Given the description of an element on the screen output the (x, y) to click on. 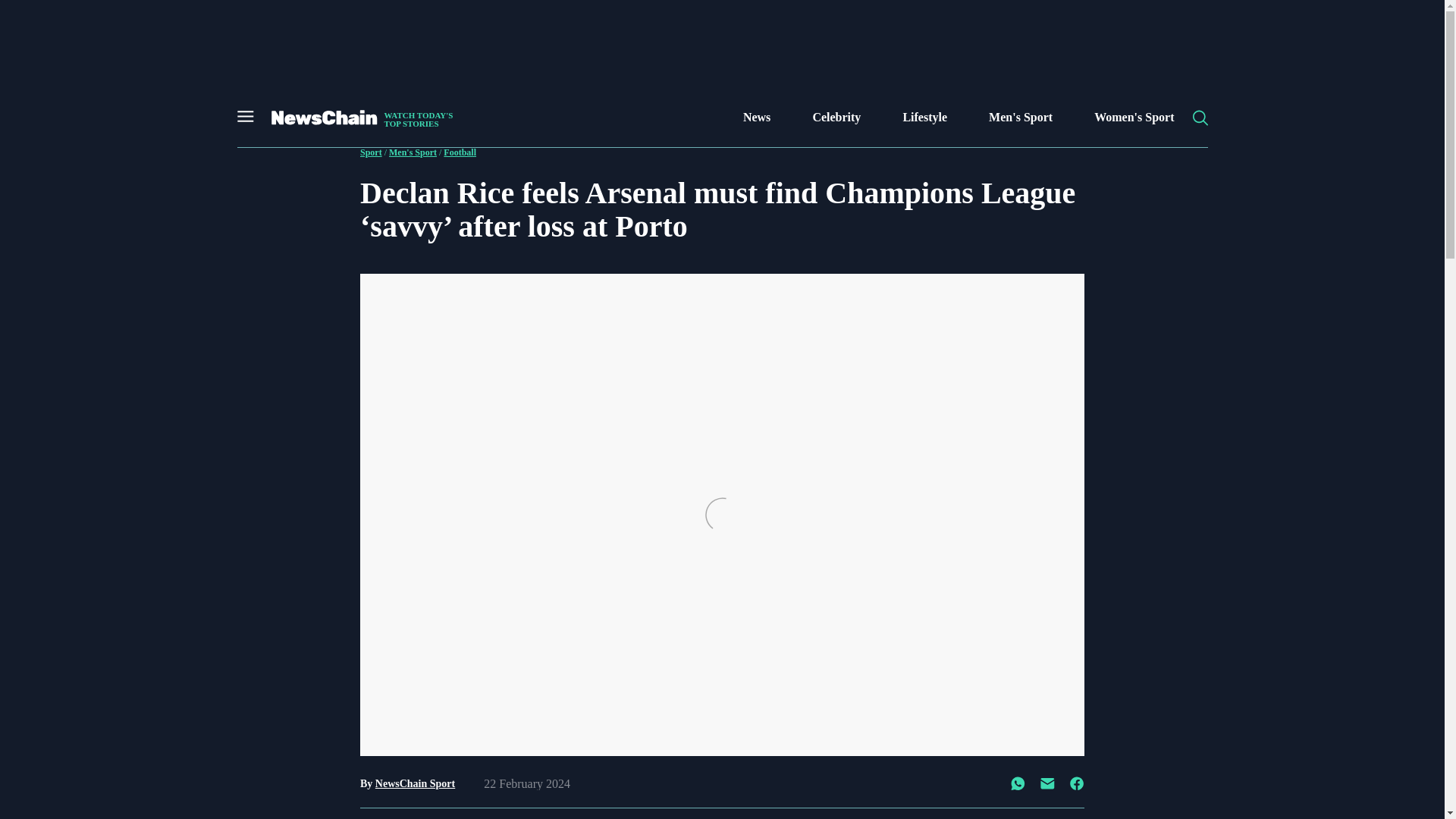
News (756, 117)
Men's Sport (1020, 117)
NewsChain Sport (414, 783)
Women's Sport (1133, 117)
Lifestyle (924, 117)
Football (460, 152)
Celebrity (836, 117)
Men's Sport (412, 152)
Sport (359, 117)
